Given the description of an element on the screen output the (x, y) to click on. 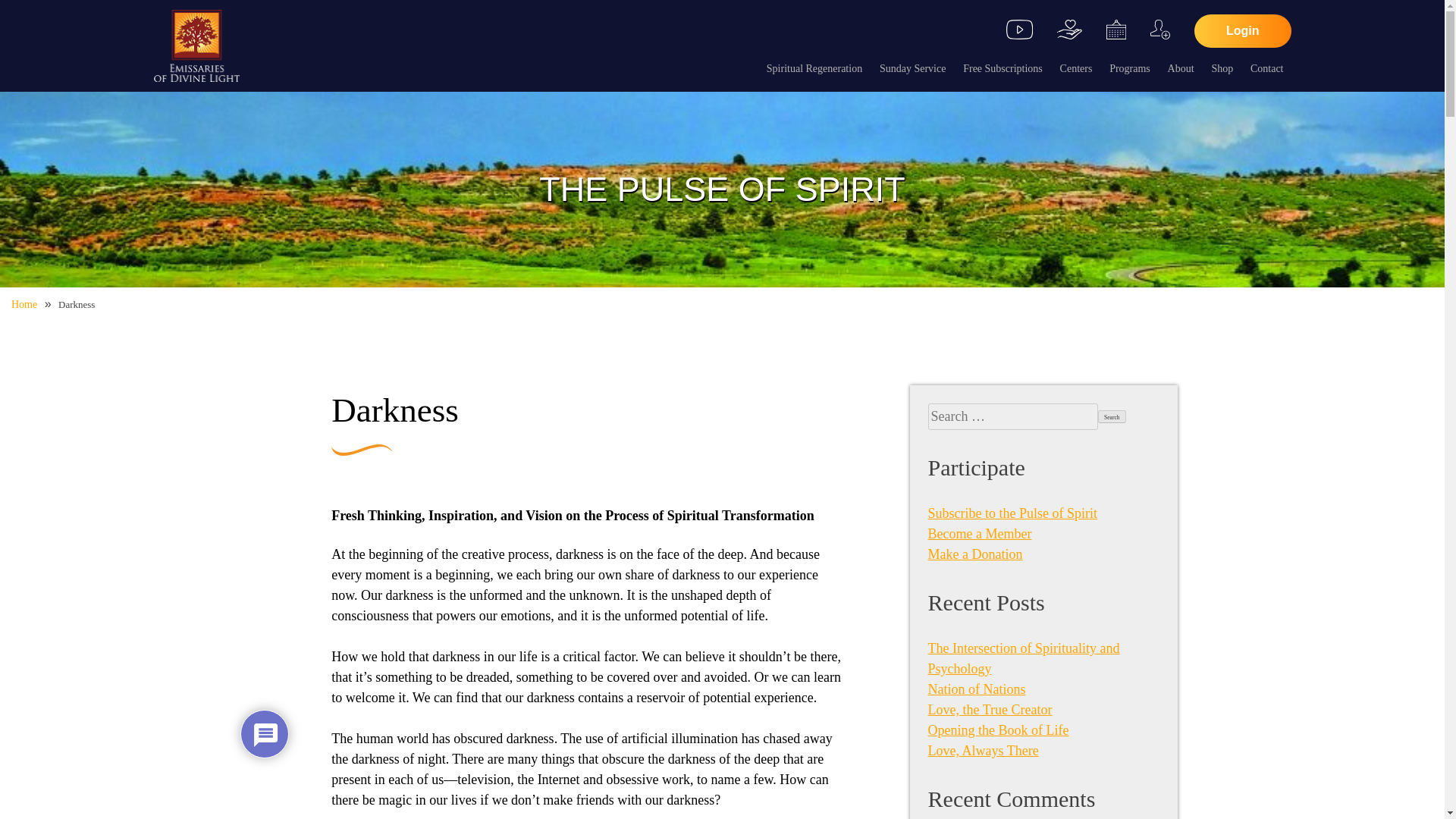
Login (1242, 30)
Search (1111, 416)
Search (1111, 416)
Shop (1222, 68)
Programs (1129, 68)
About (1180, 68)
Centers (1076, 68)
Contact (1267, 68)
Free Subscriptions (1002, 68)
Spiritual Regeneration (814, 68)
Sunday Service (911, 68)
